Given the description of an element on the screen output the (x, y) to click on. 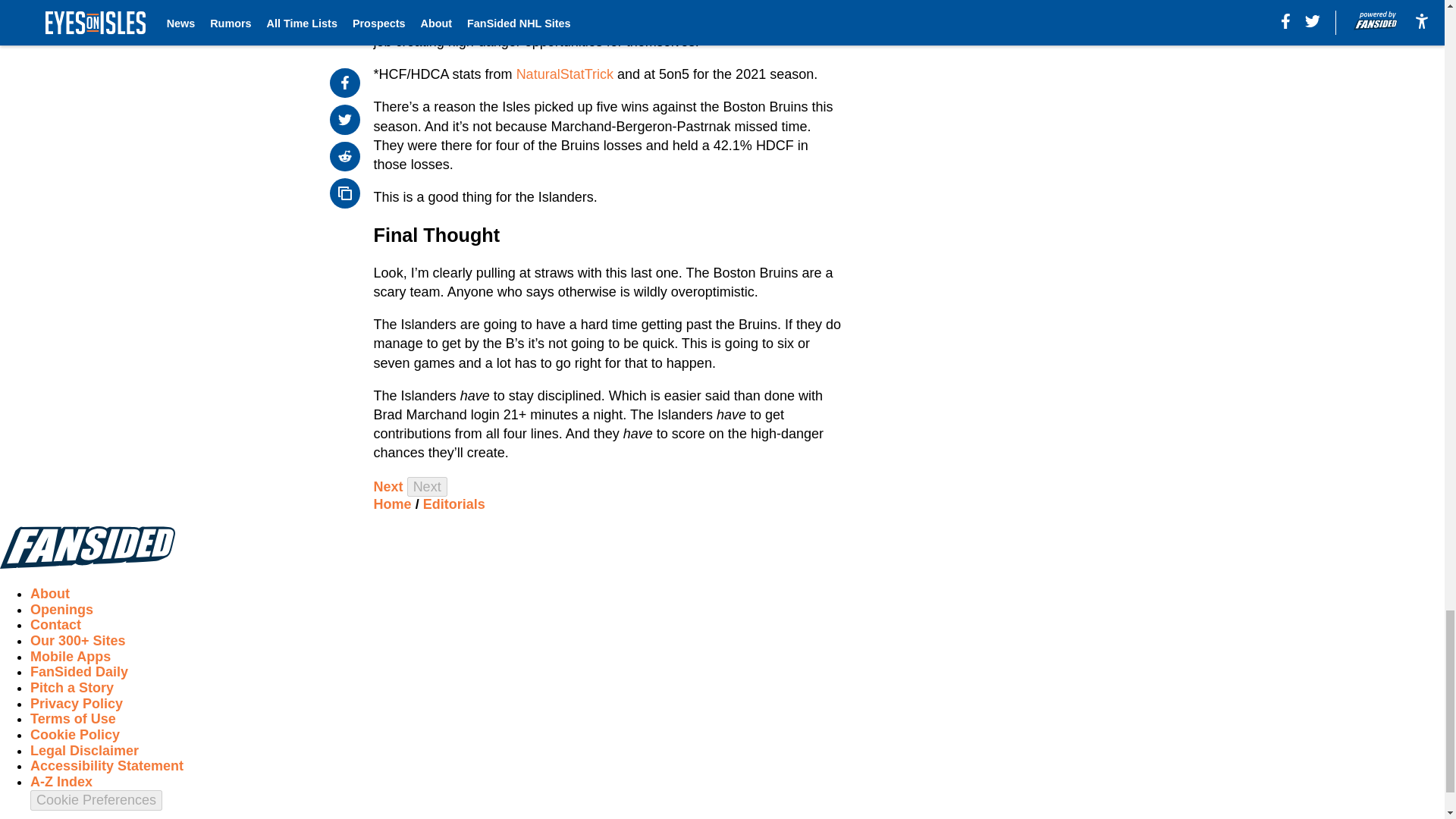
NaturalStatTrick (564, 73)
Next (388, 486)
Home (393, 503)
Next (426, 486)
